Given the description of an element on the screen output the (x, y) to click on. 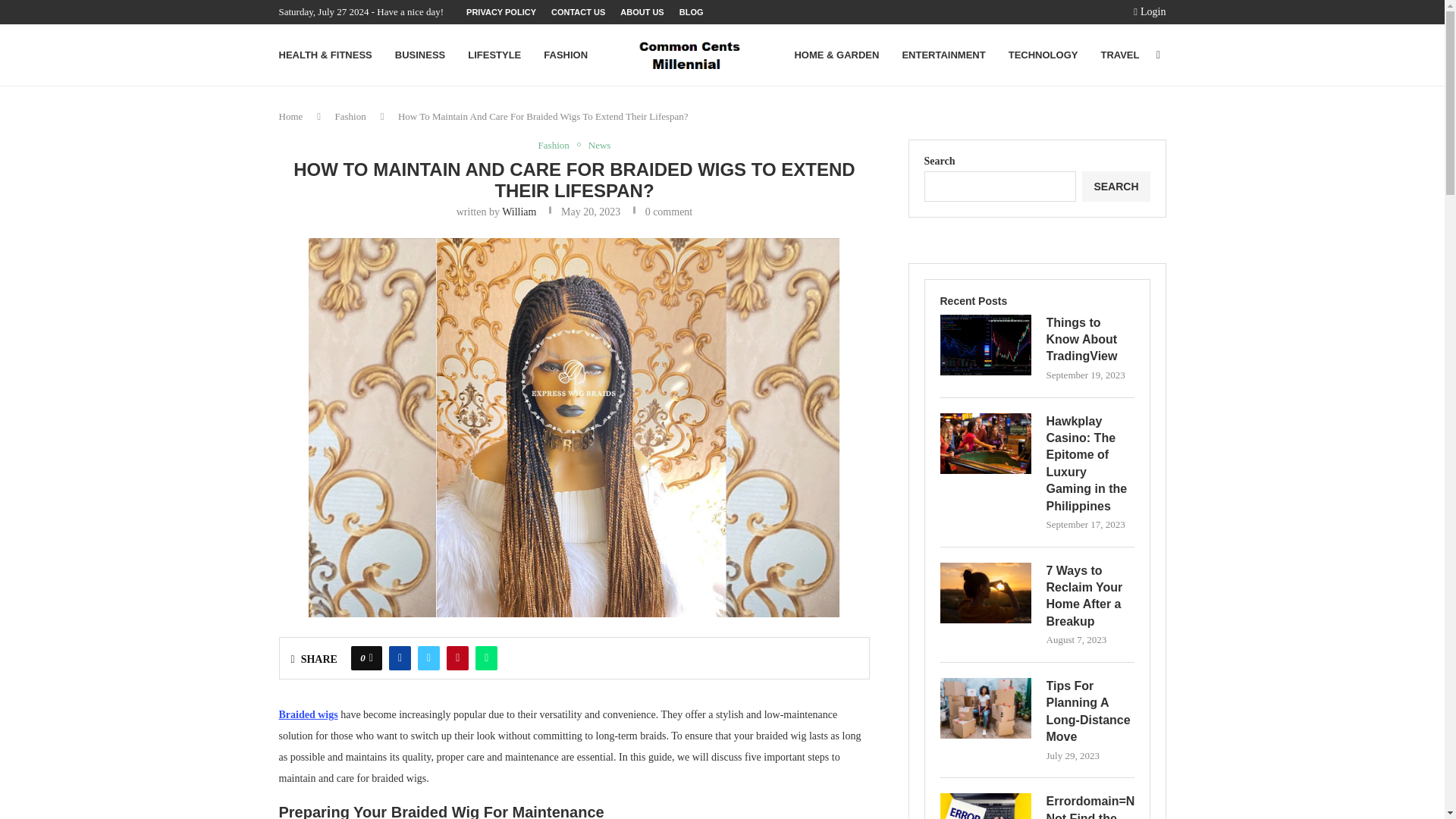
CONTACT US (578, 12)
News (599, 145)
BLOG (691, 12)
ENTERTAINMENT (943, 55)
Home (290, 116)
ABOUT US (641, 12)
Braided wigs (308, 714)
TECHNOLOGY (1043, 55)
Login (1150, 12)
William (518, 211)
Fashion (350, 116)
PRIVACY POLICY (500, 12)
Fashion (557, 145)
